Given the description of an element on the screen output the (x, y) to click on. 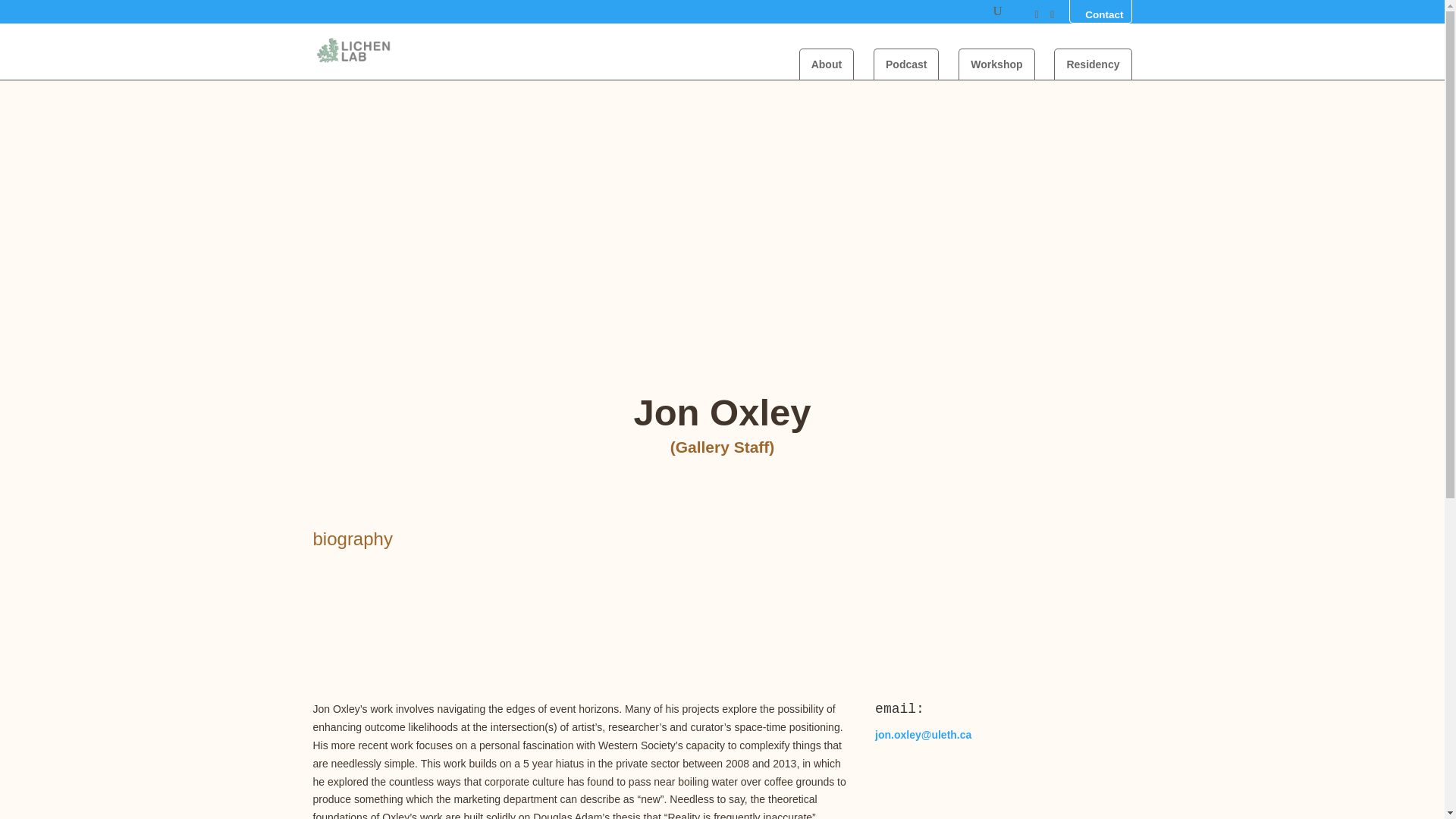
Contact (1099, 11)
Podcast (906, 63)
About (826, 63)
Residency (1092, 63)
Workshop (995, 63)
